Given the description of an element on the screen output the (x, y) to click on. 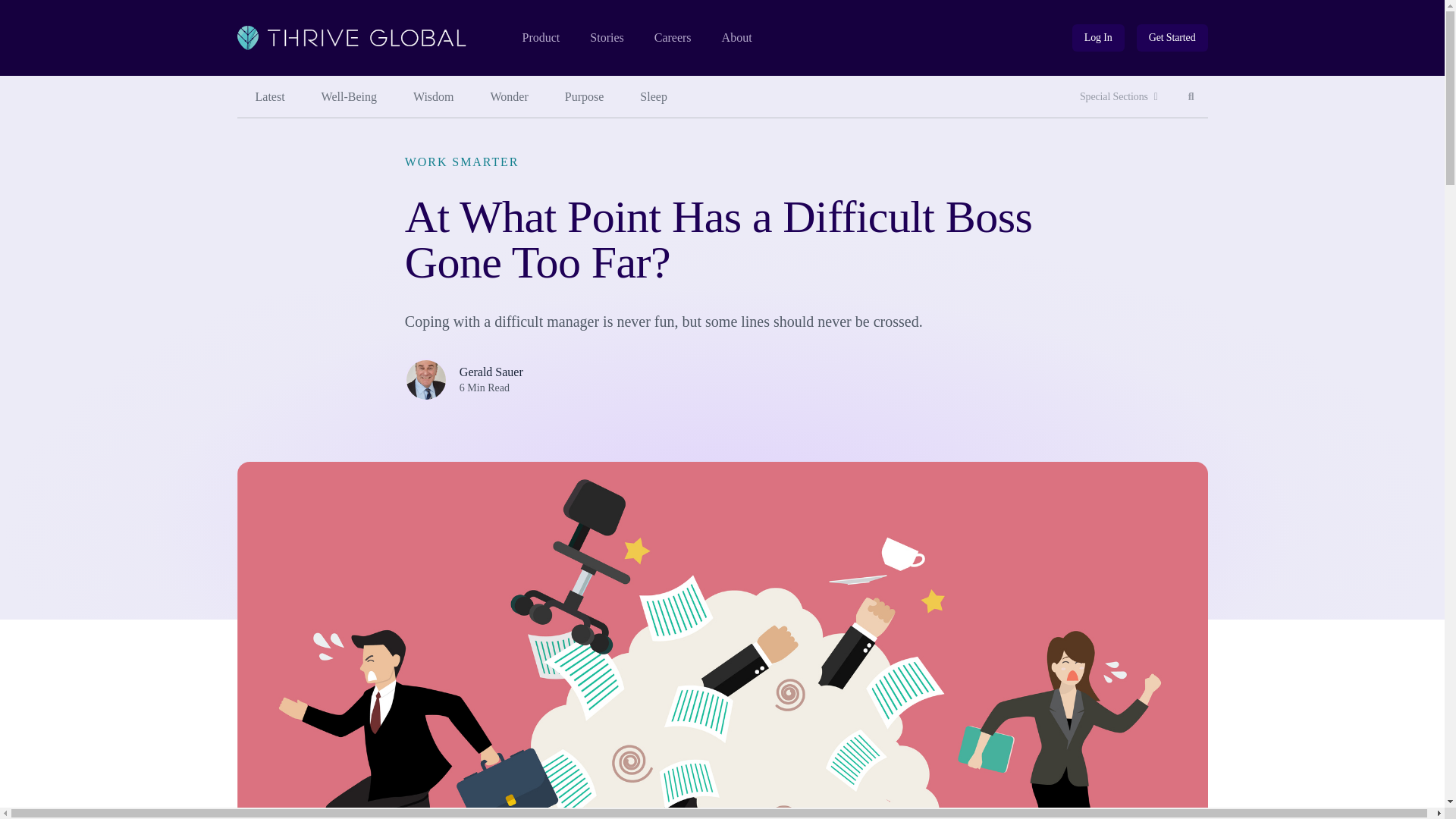
Log In (1097, 37)
Get Started (1172, 37)
btn-info (1097, 37)
Product (540, 37)
Wisdom (1191, 97)
Latest (432, 96)
btn-primary (268, 96)
Well-Being (1172, 37)
Careers (348, 96)
